Given the description of an element on the screen output the (x, y) to click on. 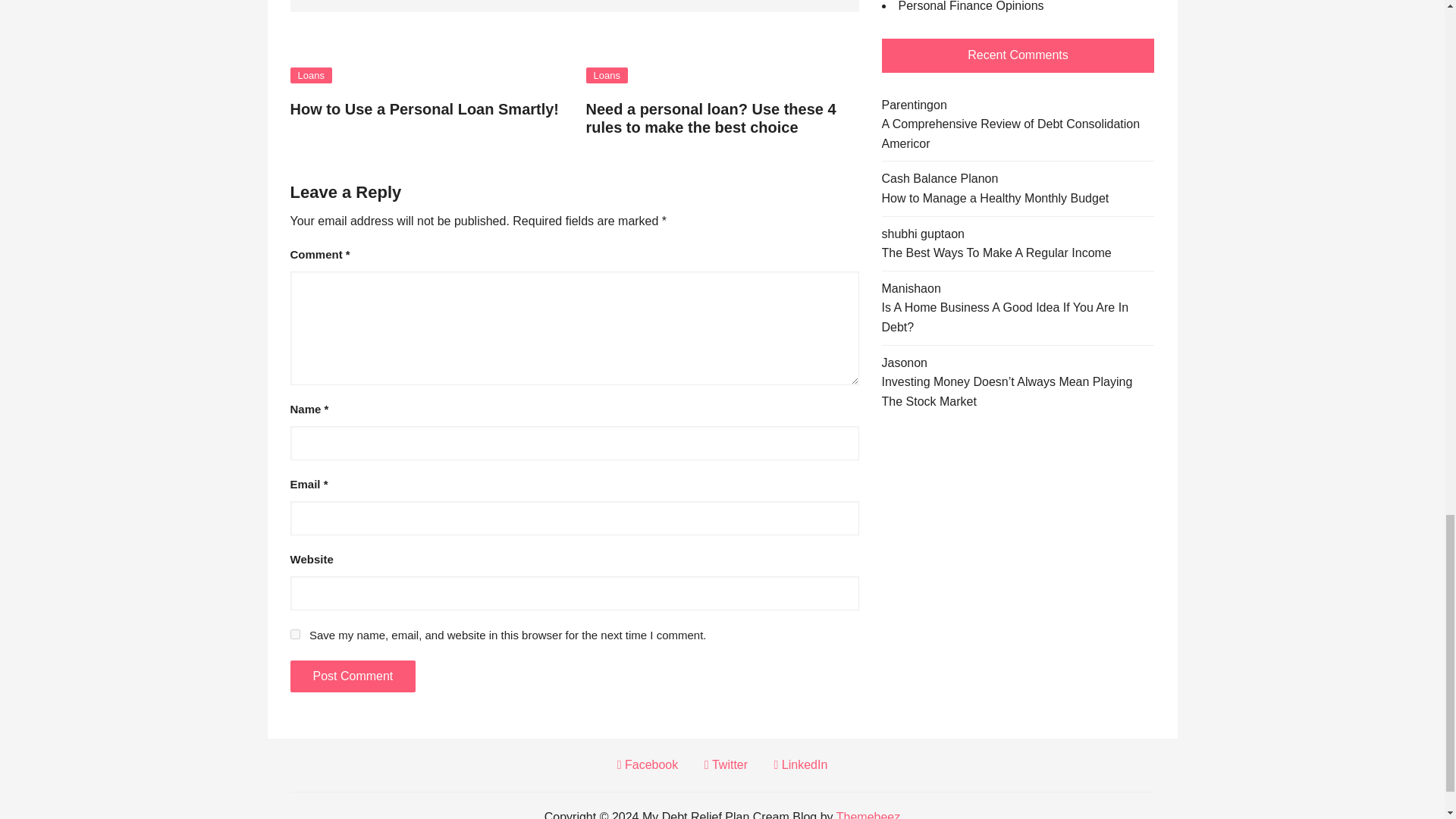
Loans (606, 75)
How to Use a Personal Loan Smartly! (424, 108)
Loans (310, 75)
yes (294, 634)
Post Comment (351, 676)
